Given the description of an element on the screen output the (x, y) to click on. 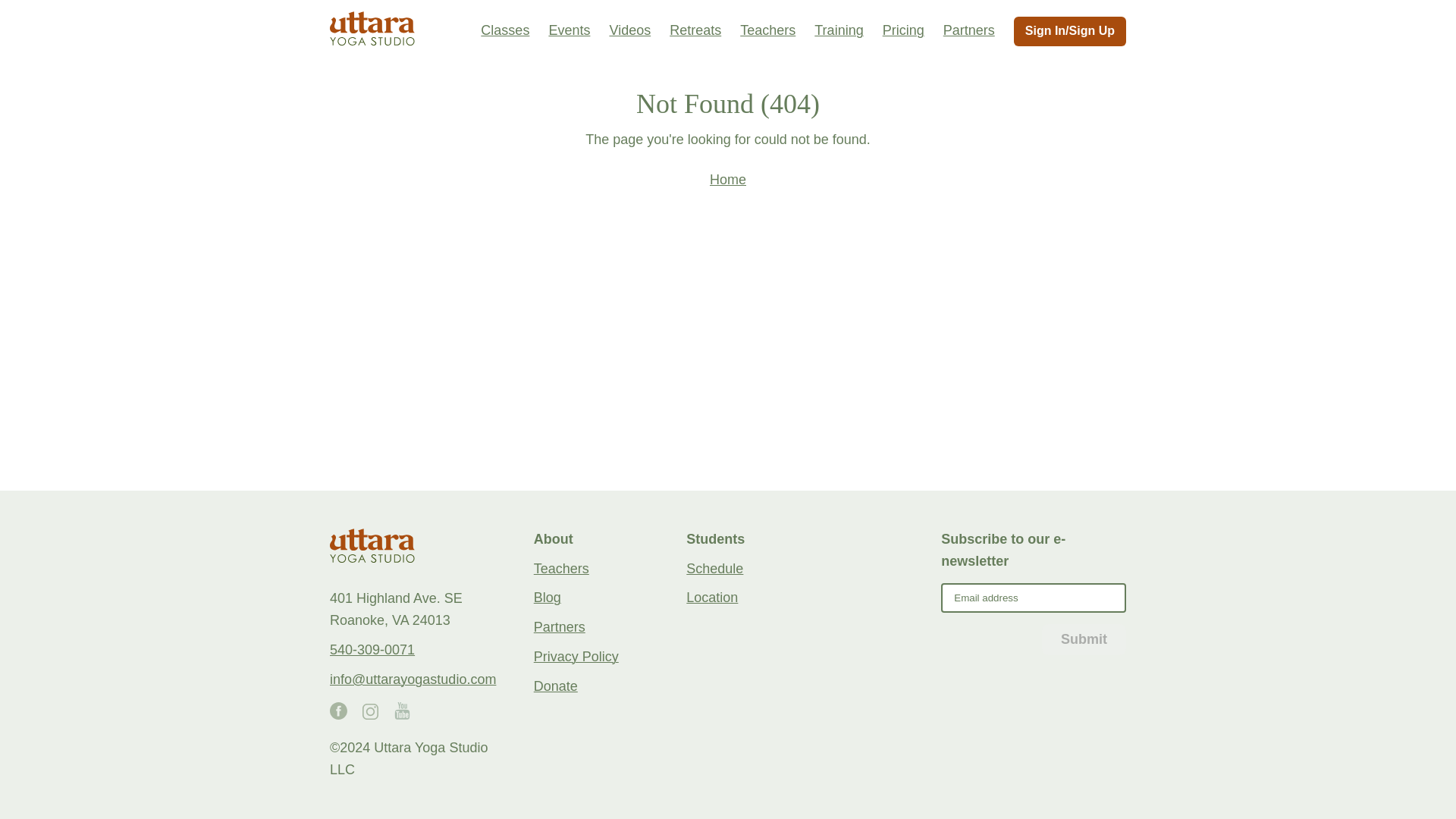
Videos (629, 29)
Teachers (766, 29)
Blog (547, 597)
Partners (559, 626)
Classes (504, 29)
Retreats (694, 29)
Partners (968, 29)
Pricing (903, 29)
Home (727, 179)
Submit (1083, 639)
Privacy Policy (576, 656)
Training (838, 29)
Events (568, 29)
540-309-0071 (372, 649)
Teachers (561, 568)
